Given the description of an element on the screen output the (x, y) to click on. 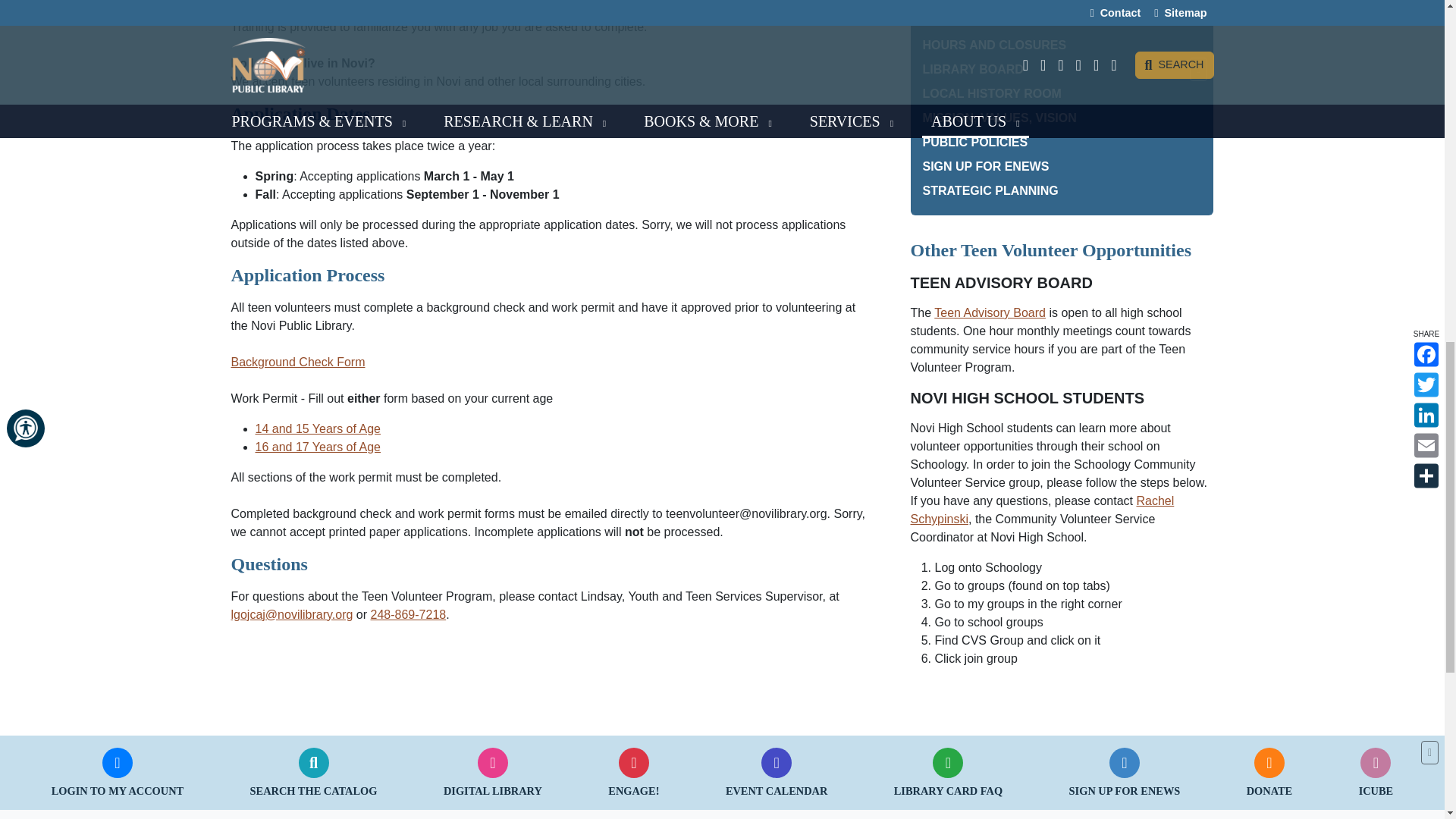
Work Permit 16 And 17 Years Of Age (317, 446)
Teen Advisory Board (989, 312)
Work Permit 14 And 15 Years Of Age (317, 428)
